Given the description of an element on the screen output the (x, y) to click on. 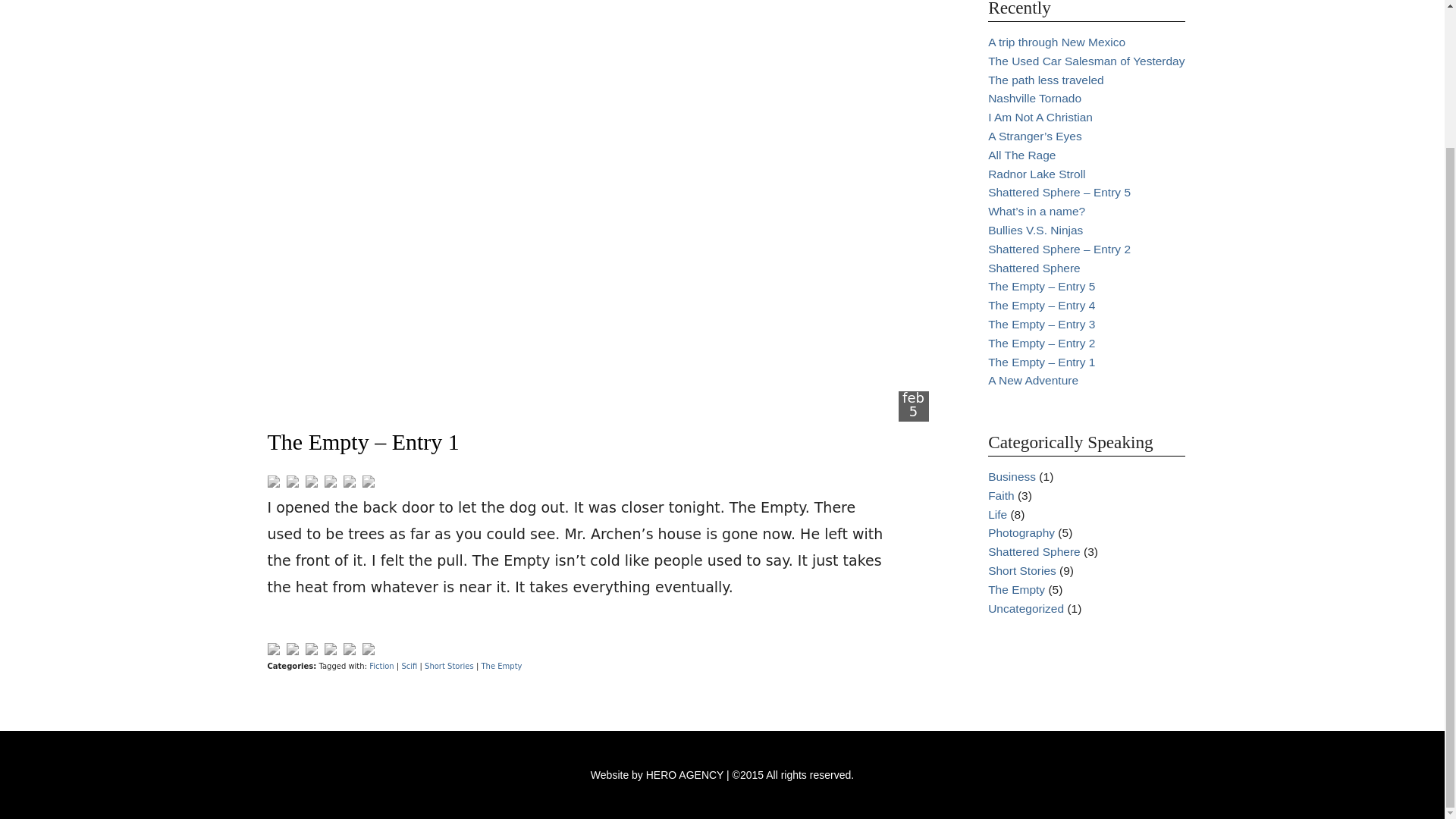
Share on Twitter (293, 650)
Share on Facebook (274, 650)
Shattered Sphere (1034, 267)
Share on Reddit (310, 648)
Pin it with Pinterest (331, 482)
Radnor Lake Stroll (1036, 173)
The Empty (500, 665)
Share on Facebook (272, 648)
Share on Linkedin (350, 482)
Share on Linkedin (348, 481)
All The Rage (1021, 154)
Share on Twitter (292, 648)
Share on Twitter (292, 481)
Share on Reddit (310, 481)
I Am Not A Christian (1040, 116)
